Given the description of an element on the screen output the (x, y) to click on. 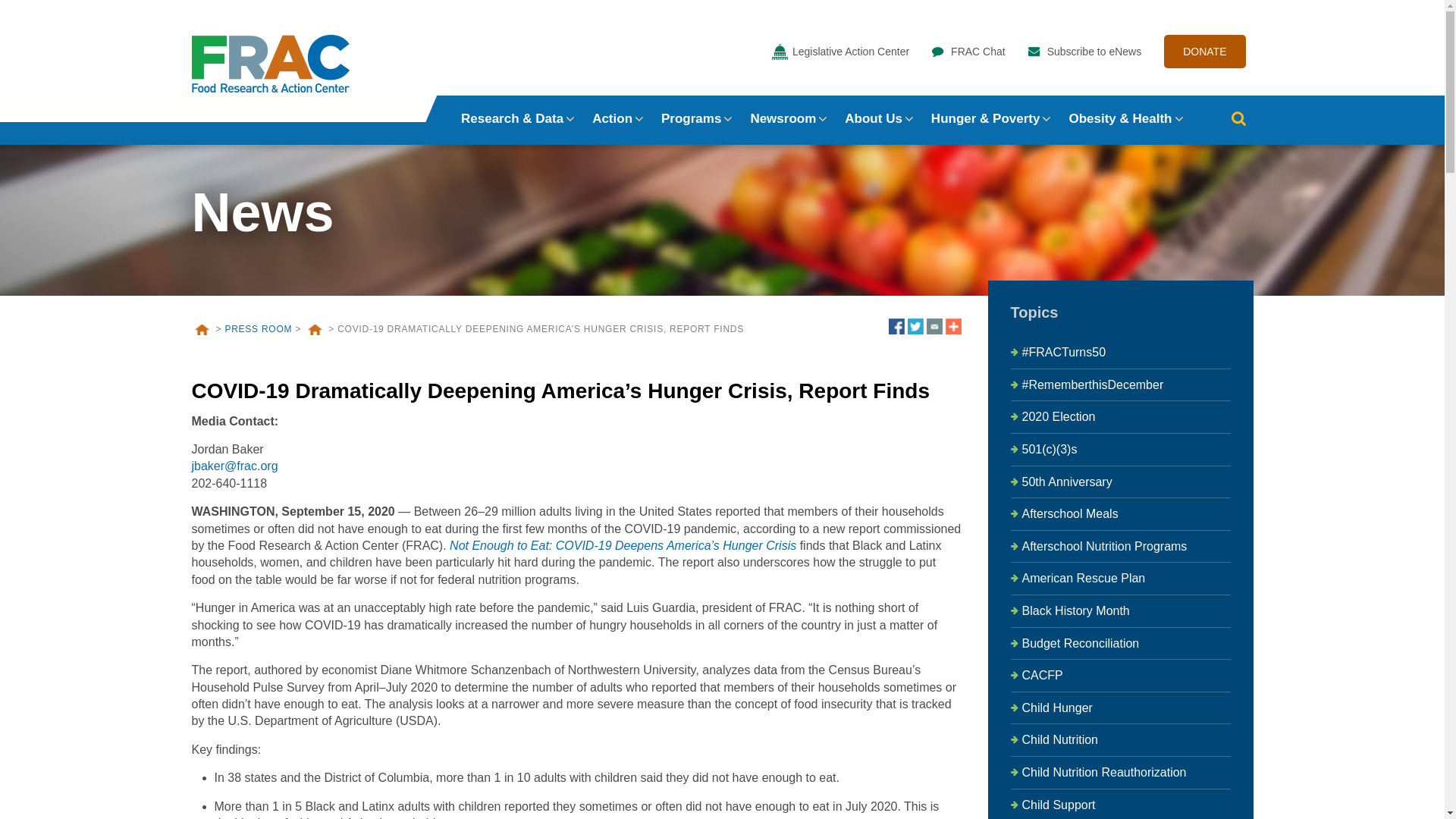
Legislative Action Center (844, 51)
FRAC Chat (972, 51)
Subscribe to eNews (1088, 51)
Programs (690, 118)
DONATE (1203, 51)
Action (612, 118)
